Given the description of an element on the screen output the (x, y) to click on. 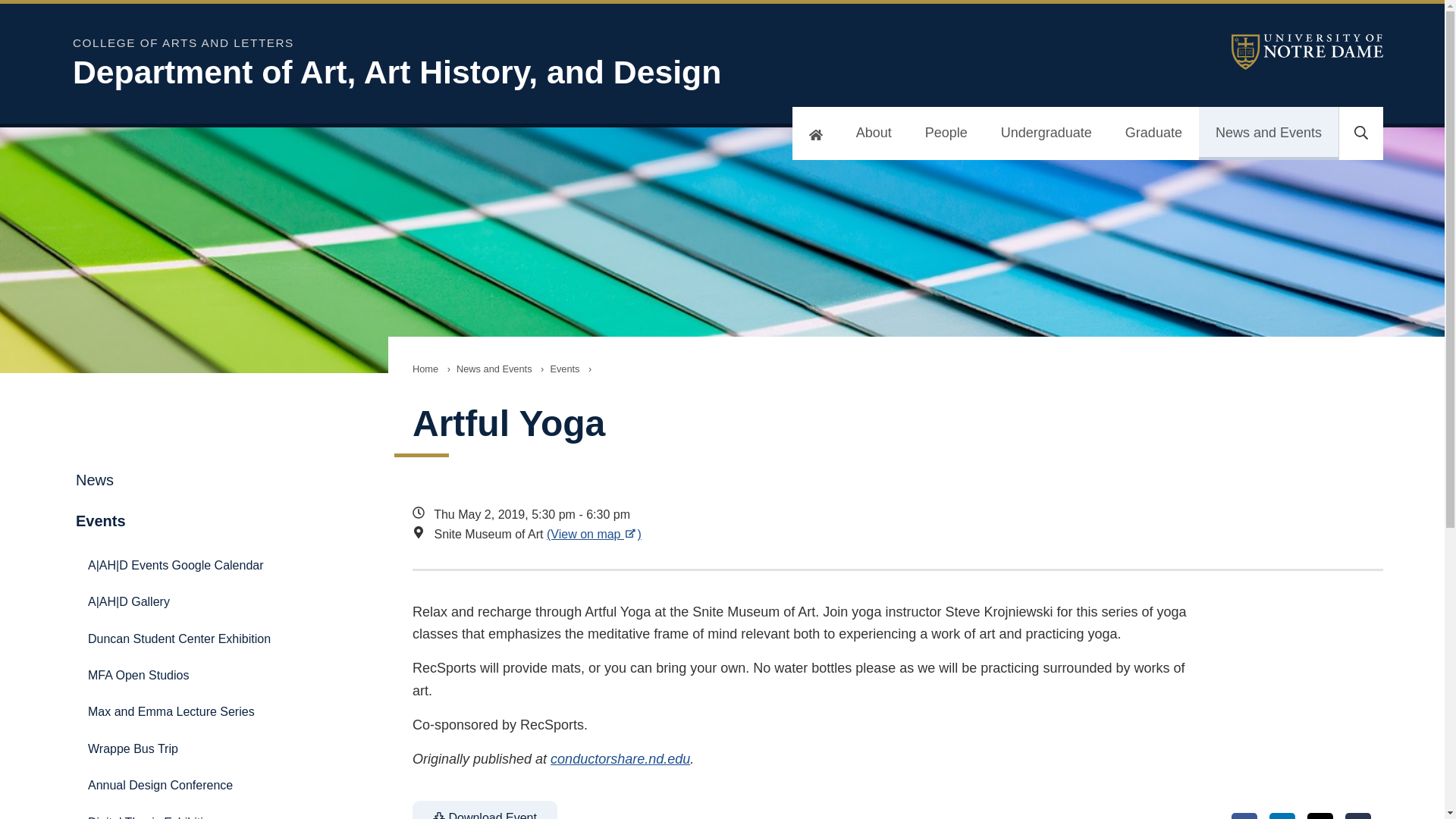
Home (425, 368)
News and Events (493, 368)
Events (564, 368)
Department of Art, Art History, and Design (466, 72)
News and Events (1268, 133)
About (874, 133)
Facebook (1244, 816)
LinkedIn (1282, 816)
conductorshare.nd.edu (620, 758)
People (946, 133)
Undergraduate (1046, 133)
Thu May  2, 2019  5:30 pm -  6:30 pm (806, 514)
Graduate (1153, 133)
University of Notre Dame (1307, 51)
Email (1358, 816)
